Given the description of an element on the screen output the (x, y) to click on. 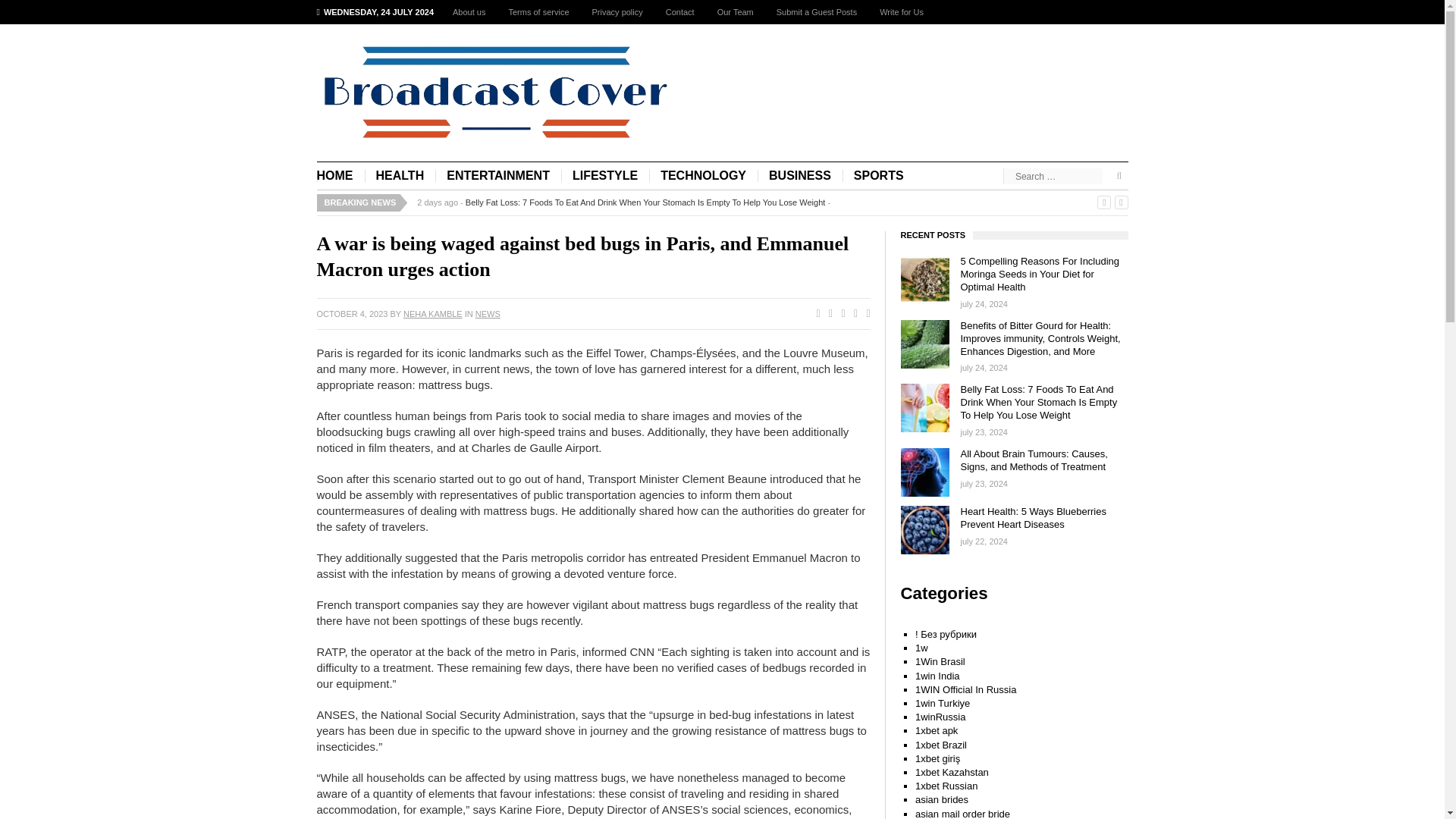
Write for Us (900, 12)
Privacy policy (616, 12)
LIFESTYLE (604, 175)
Submit a Guest Posts (816, 12)
NEWS (488, 313)
SPORTS (879, 175)
HOME (341, 175)
About us (468, 12)
Contact (679, 12)
GooglePlus (839, 313)
BUSINESS (800, 175)
Facebook (814, 313)
Twitter (827, 313)
Terms of service (537, 12)
